Given the description of an element on the screen output the (x, y) to click on. 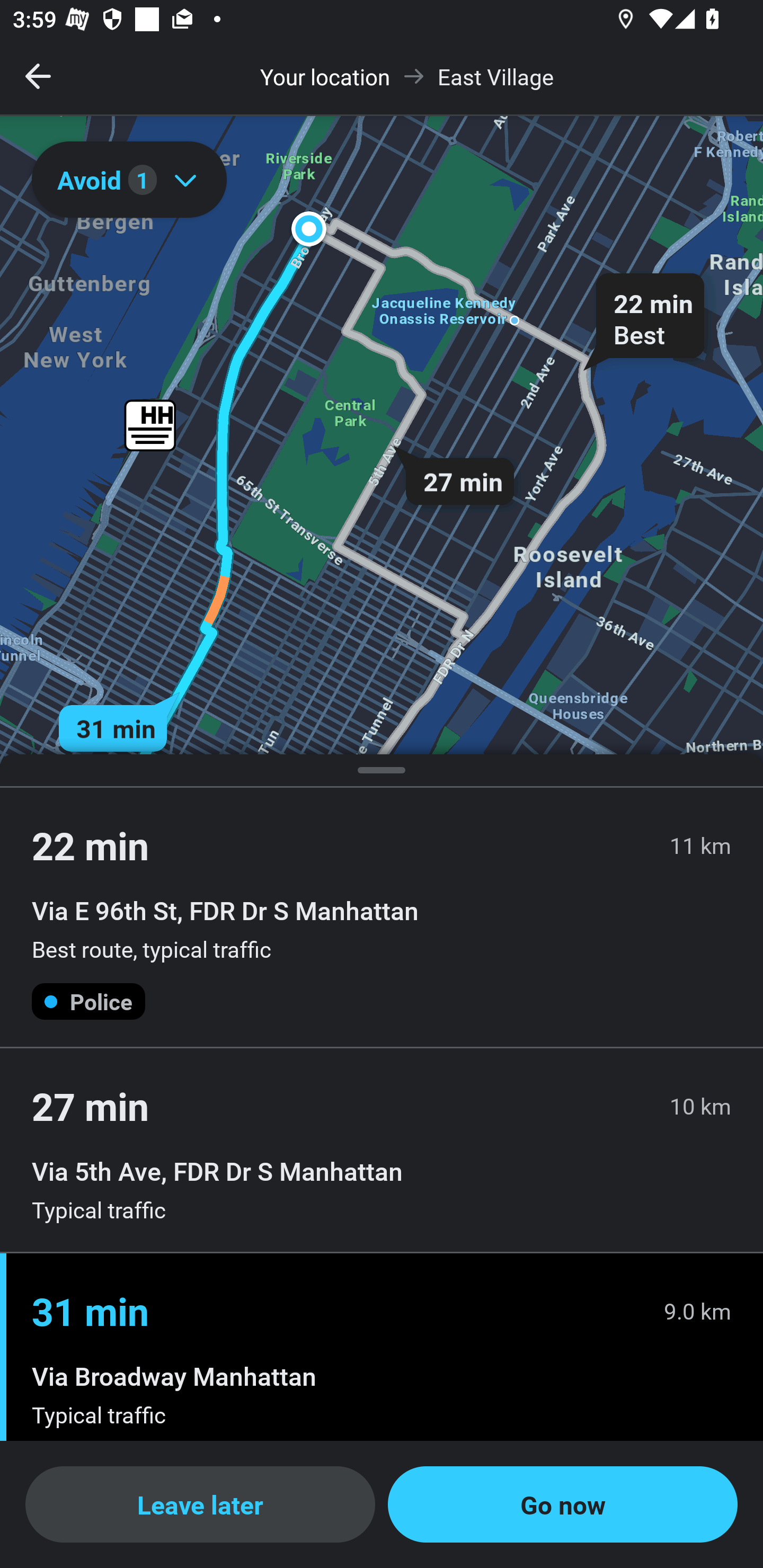
Leave later (200, 1504)
Go now (562, 1504)
